Given the description of an element on the screen output the (x, y) to click on. 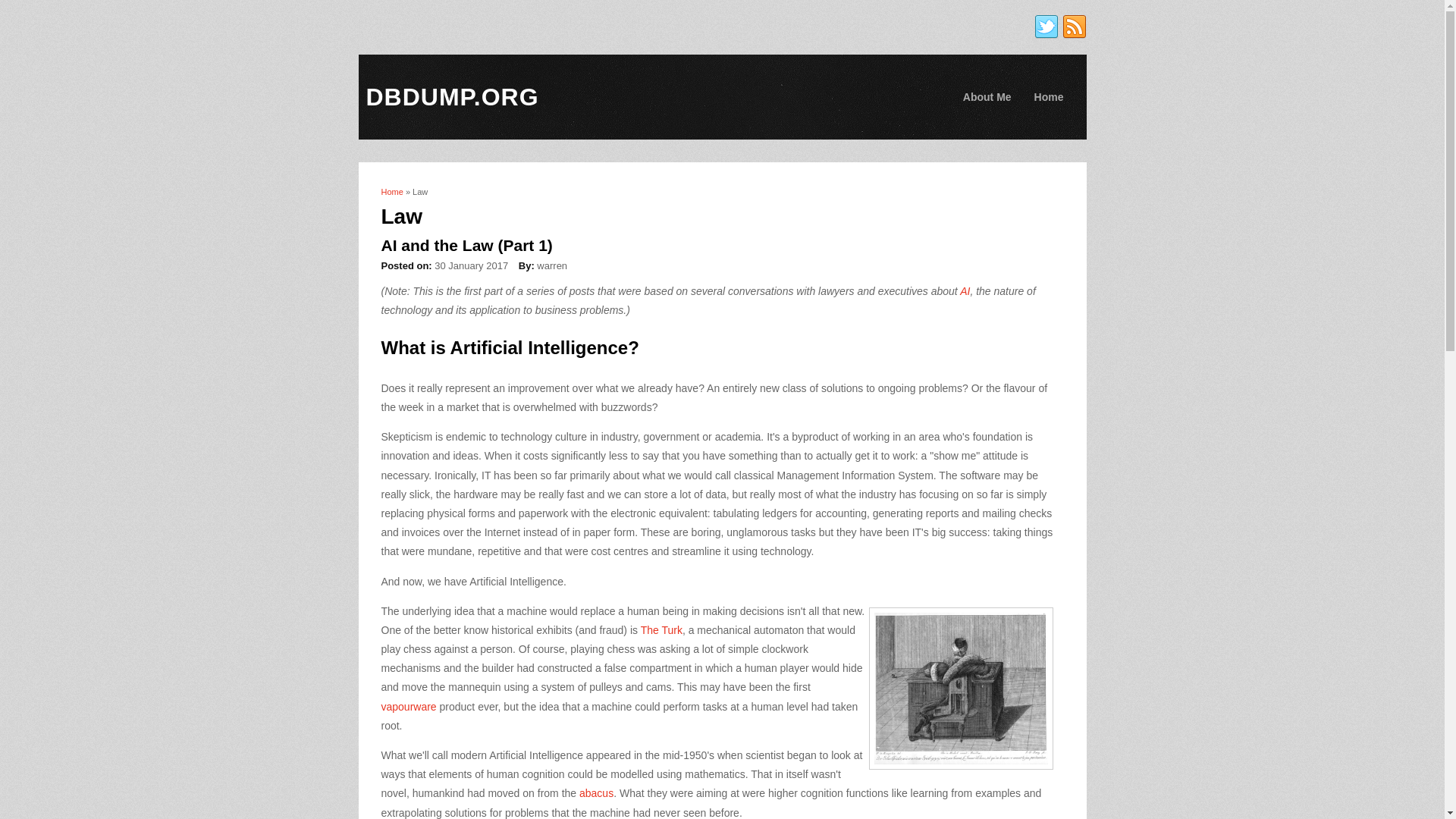
About the author of this blog. (987, 96)
About Me (987, 96)
Home (452, 96)
dbdump.org in Twitter (1045, 27)
vapourware (407, 706)
abacus (595, 793)
Home (1049, 96)
DBDUMP.ORG (452, 96)
Home (391, 191)
dbdump.org in RSS (1073, 27)
The Turk (661, 630)
